Given the description of an element on the screen output the (x, y) to click on. 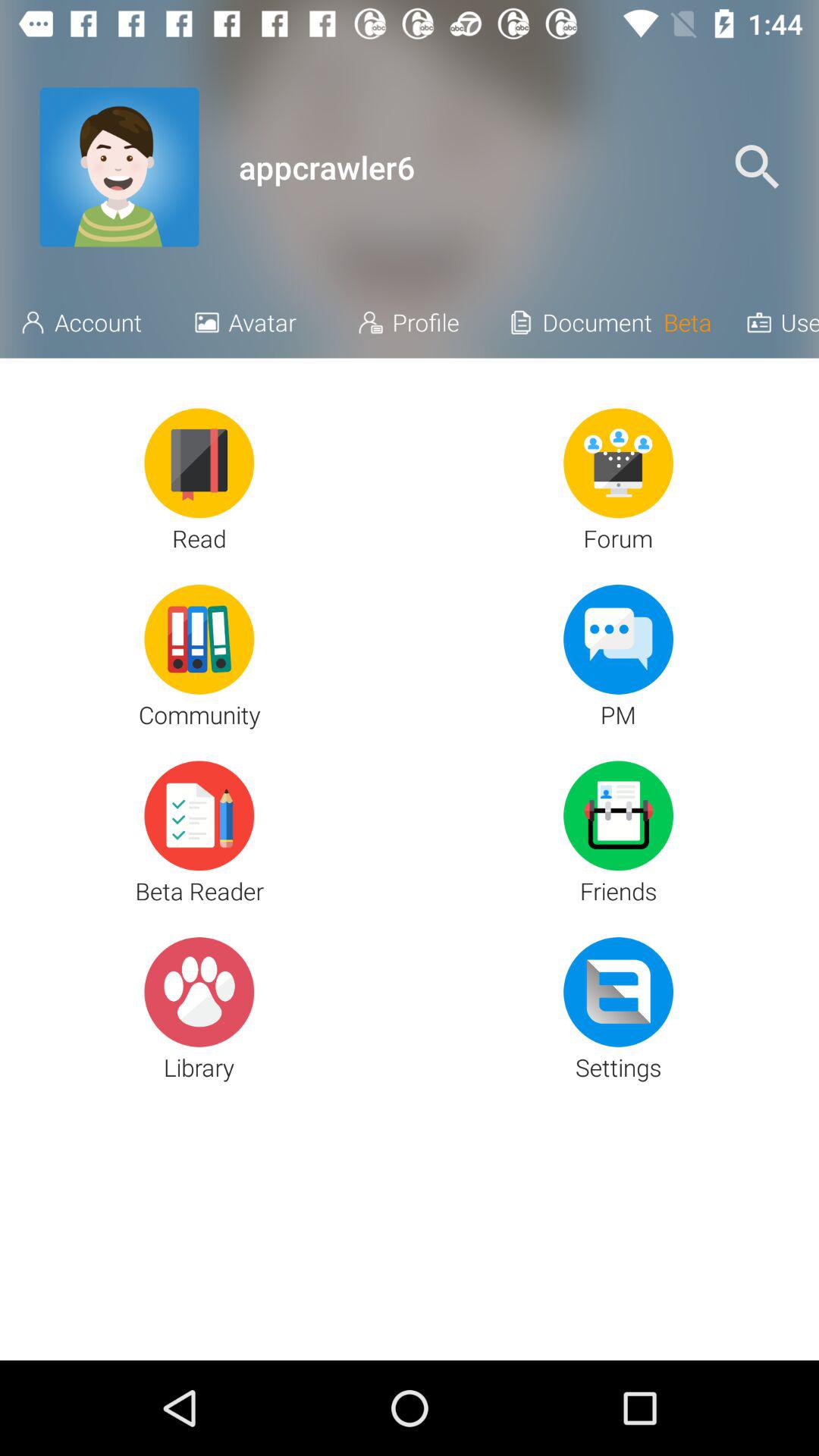
choose the item next to the appcrawler6 item (757, 167)
